Given the description of an element on the screen output the (x, y) to click on. 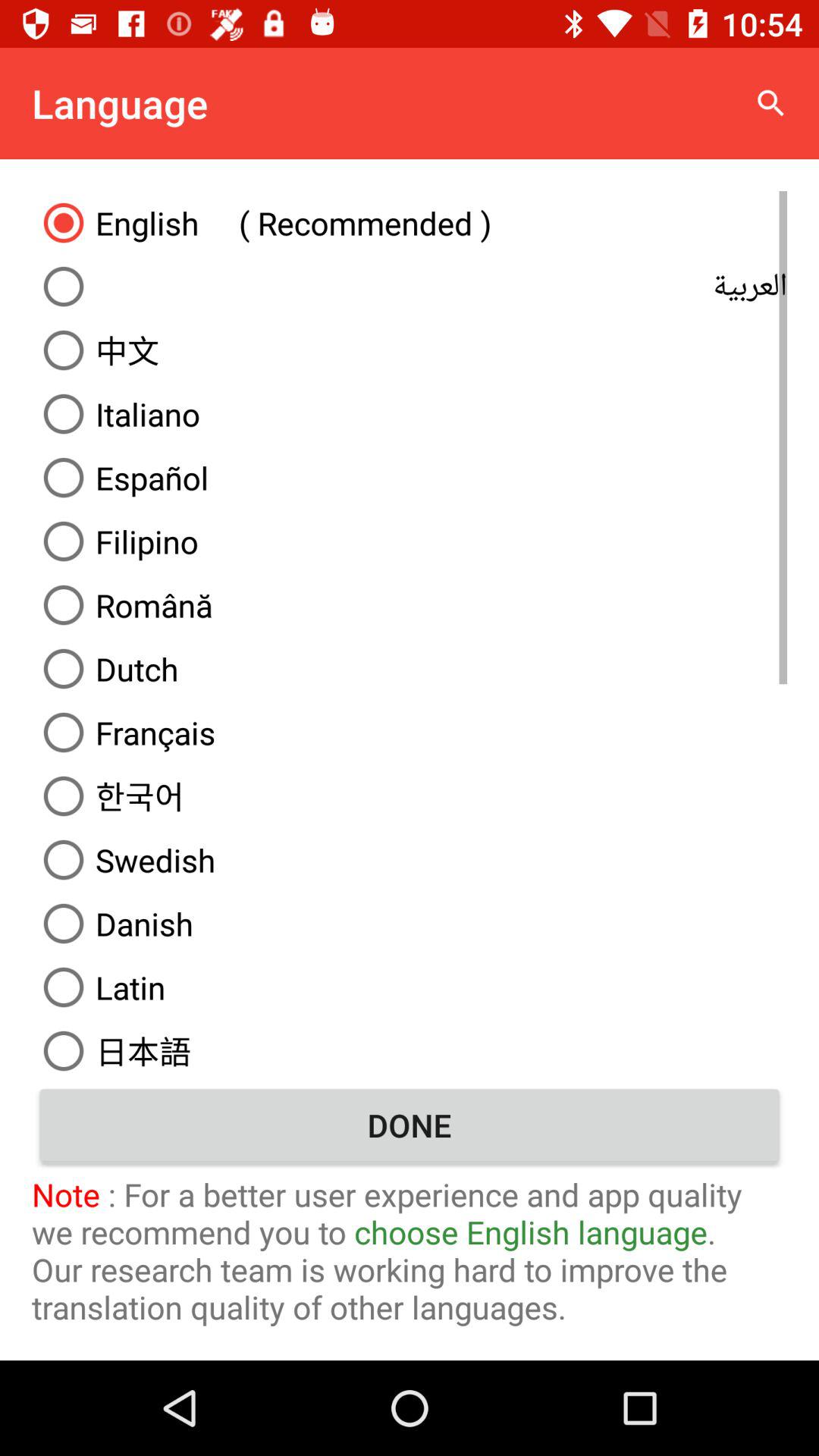
click the english     ( recommended ) (409, 222)
